Given the description of an element on the screen output the (x, y) to click on. 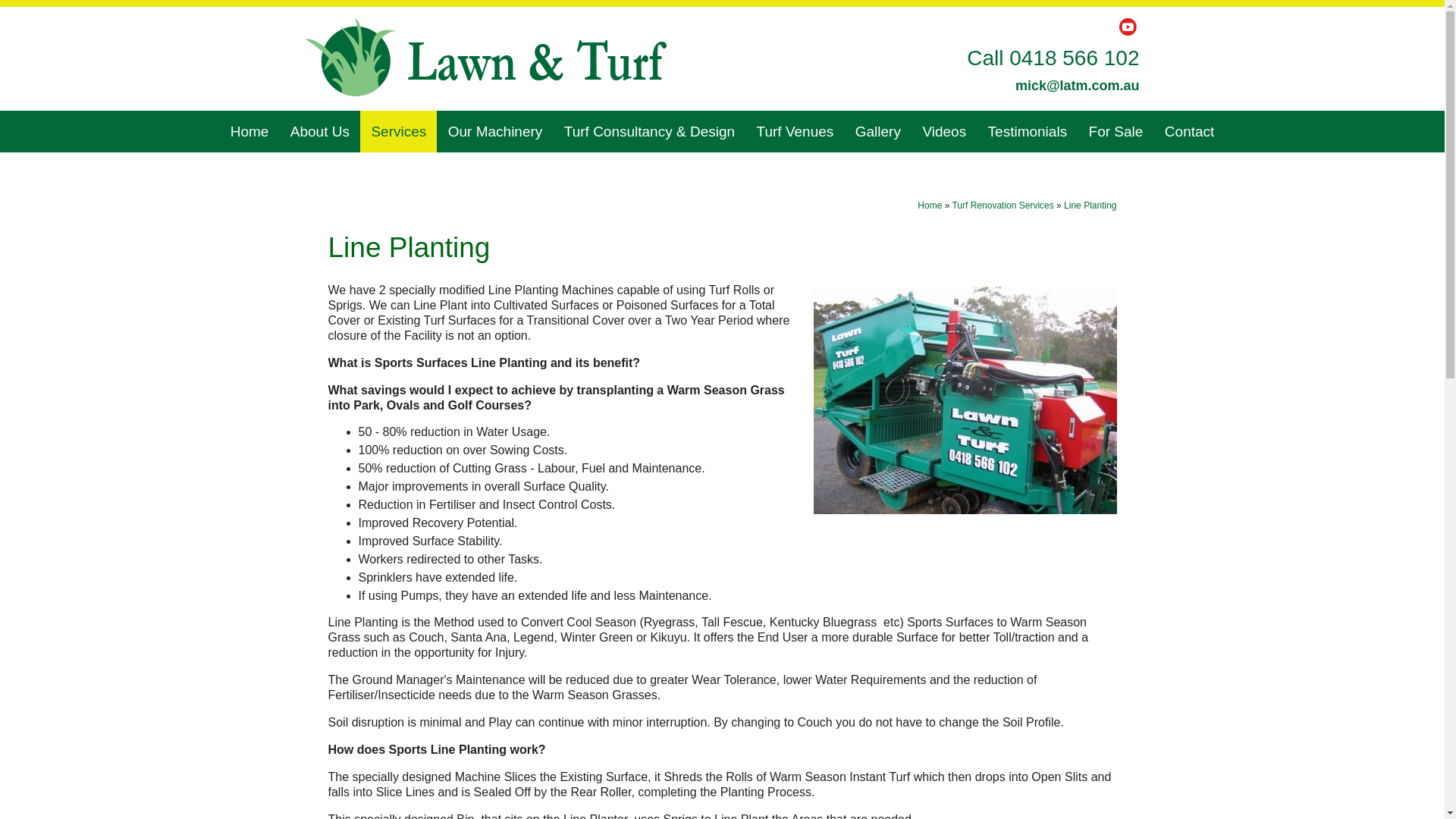
Home Element type: text (249, 131)
Lawn & Turf Maintenance Element type: hover (484, 57)
Line Planting Element type: text (1089, 205)
mick@latm.com.au Element type: text (1077, 85)
Turf Venues Element type: text (795, 131)
Home Element type: text (929, 205)
For Sale Element type: text (1116, 131)
Services Element type: text (398, 131)
Line planters capable of using rolls or sprigs Element type: hover (964, 400)
0418 566 102 Element type: text (1074, 57)
Turf Consultancy & Design Element type: text (649, 131)
About Us Element type: text (319, 131)
Contact Element type: text (1189, 131)
Testimonials Element type: text (1027, 131)
Gallery Element type: text (877, 131)
Our Machinery Element type: text (495, 131)
Turf Renovation Services Element type: text (1002, 205)
Videos Element type: text (943, 131)
